Given the description of an element on the screen output the (x, y) to click on. 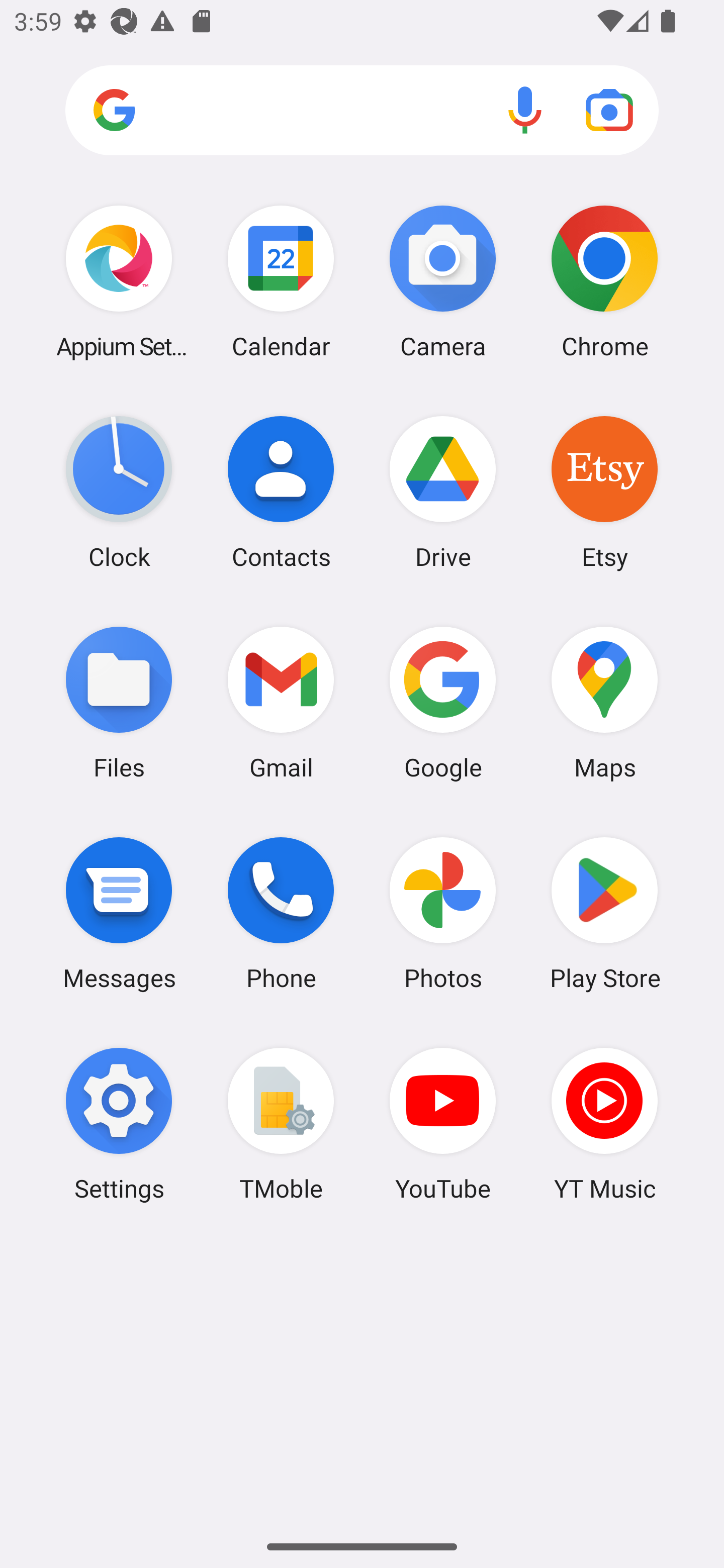
Search apps, web and more (407, 110)
Voice search (524, 109)
Google Lens (608, 109)
Appium Settings (118, 281)
Calendar (280, 281)
Camera (443, 281)
Chrome (604, 281)
Clock (118, 492)
Contacts (280, 492)
Drive (443, 492)
Etsy (604, 492)
Files (118, 702)
Gmail (280, 702)
Google (443, 702)
Maps (604, 702)
Messages (118, 913)
Phone (280, 913)
Photos (443, 913)
Play Store (604, 913)
Settings (118, 1124)
TMoble (280, 1124)
YouTube (443, 1124)
YT Music (604, 1124)
